Given the description of an element on the screen output the (x, y) to click on. 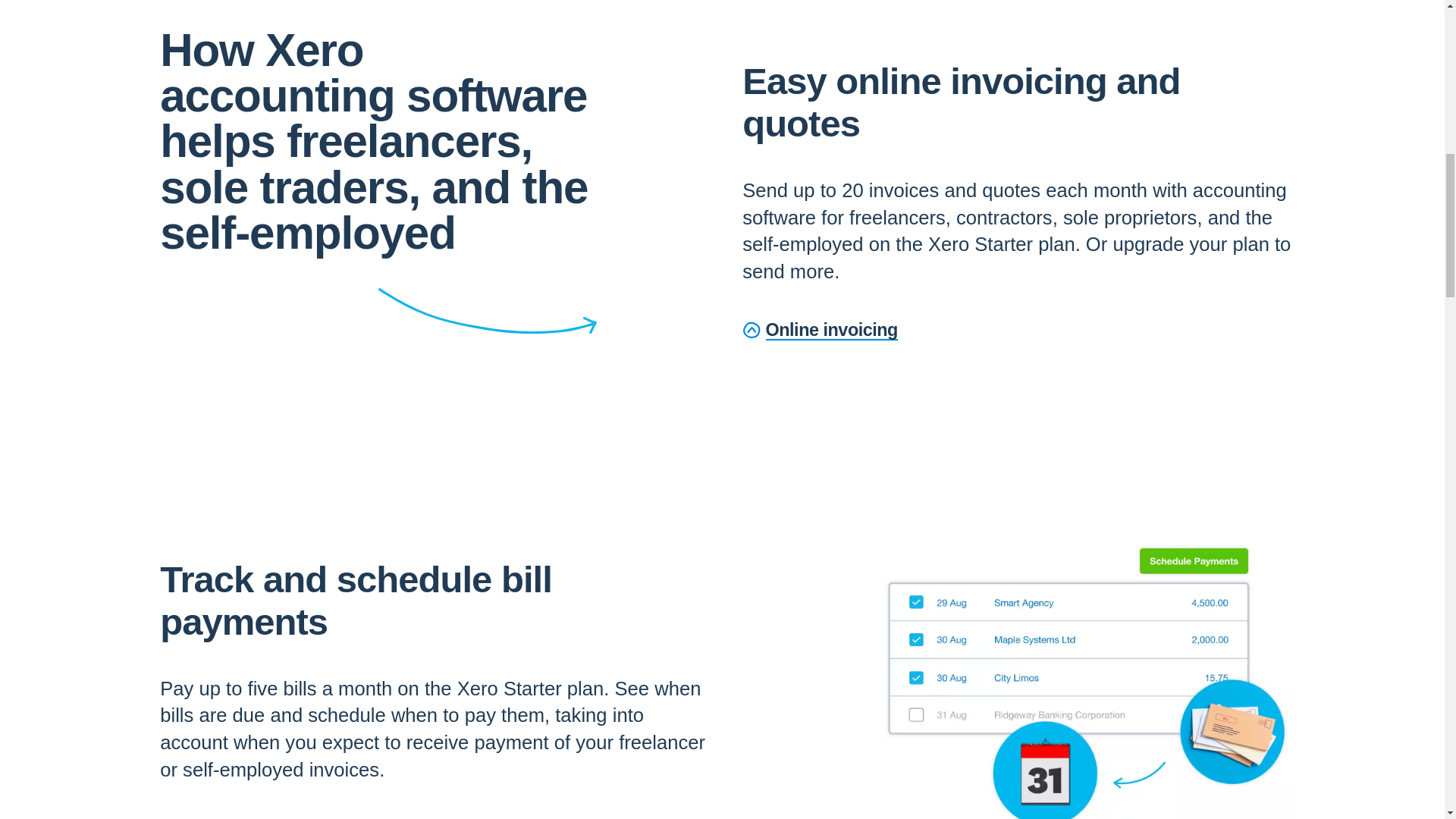
Pay bills (205, 817)
Online invoicing (820, 330)
